Given the description of an element on the screen output the (x, y) to click on. 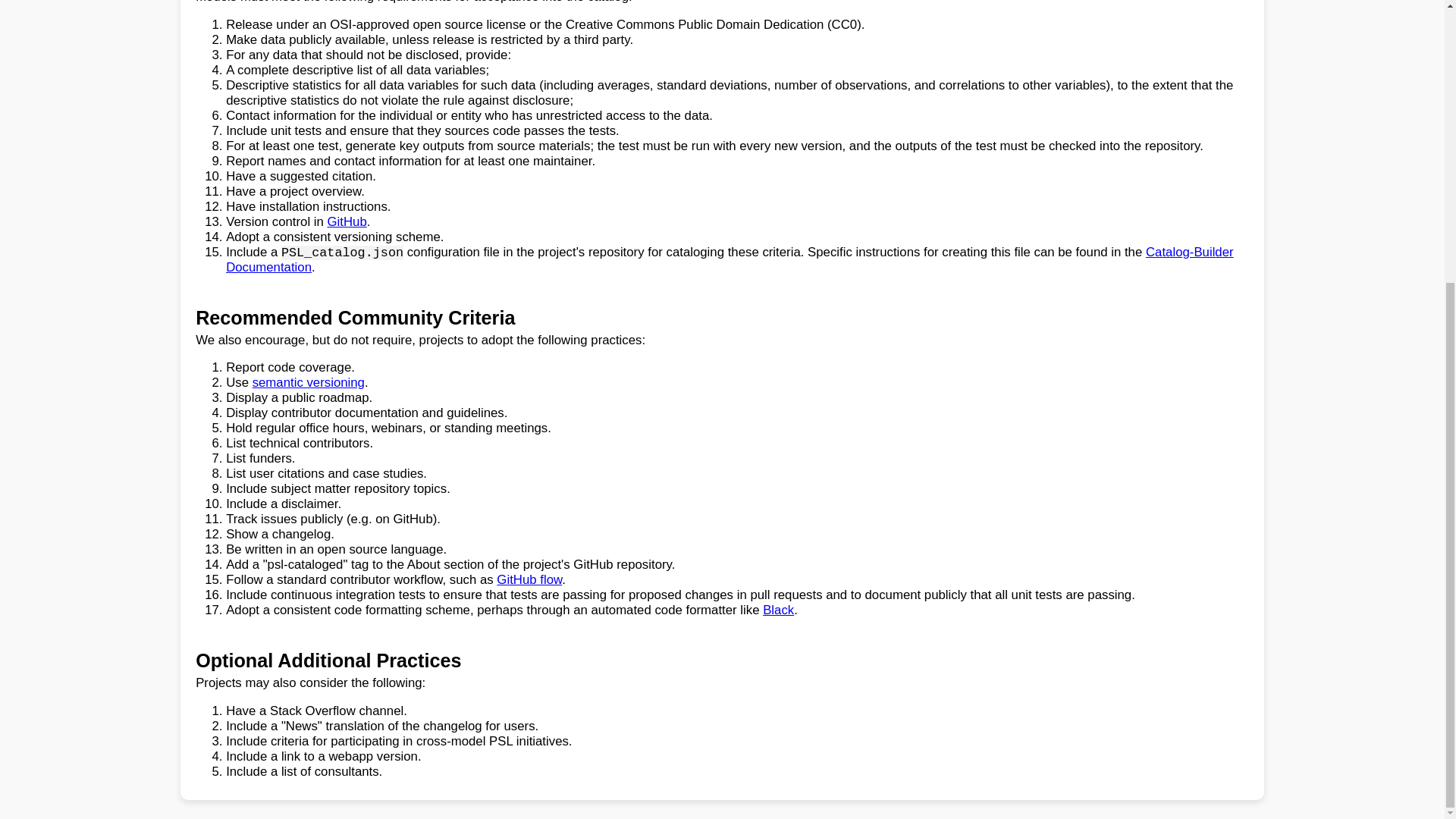
GitHub flow (529, 579)
Black (777, 609)
semantic versioning (308, 382)
Catalog-Builder Documentation (729, 259)
GitHub (346, 221)
